Given the description of an element on the screen output the (x, y) to click on. 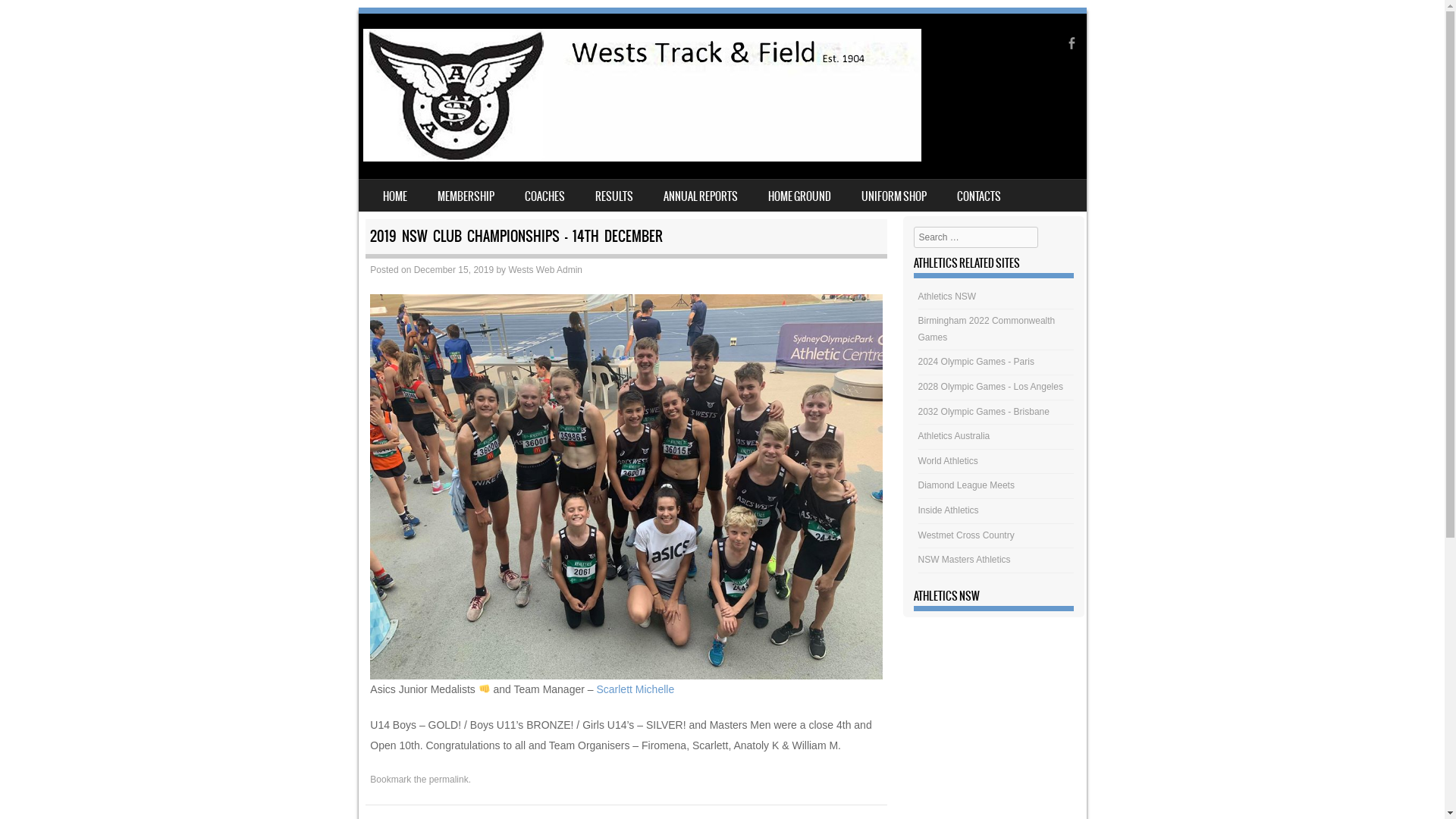
HOME Element type: text (394, 195)
NSW Masters Athletics Element type: text (964, 559)
World Athletics Element type: text (948, 460)
2024 Olympic Games - Paris Element type: text (976, 361)
Diamond League Meets Element type: text (966, 485)
CONTACTS Element type: text (978, 195)
Westmet Cross Country Element type: text (966, 534)
Wests Web Admin Element type: text (545, 269)
December 15, 2019 Element type: text (453, 269)
2032 Olympic Games - Brisbane Element type: text (983, 411)
Athletics NSW Element type: text (947, 296)
ANNUAL REPORTS Element type: text (699, 195)
Wests Track & Field Element type: hover (641, 157)
COACHES Element type: text (544, 195)
RESULTS Element type: text (613, 195)
UNIFORM SHOP Element type: text (893, 195)
HOME GROUND Element type: text (798, 195)
Inside Athletics Element type: text (948, 510)
MEMBERSHIP Element type: text (464, 195)
Birmingham 2022 Commonwealth Games Element type: text (986, 328)
permalink Element type: text (448, 779)
Scarlett Michelle Element type: text (635, 689)
Athletics Australia Element type: text (954, 435)
SKIP TO CONTENT Element type: text (393, 189)
Search Element type: text (33, 17)
2028 Olympic Games - Los Angeles Element type: text (990, 386)
